Given the description of an element on the screen output the (x, y) to click on. 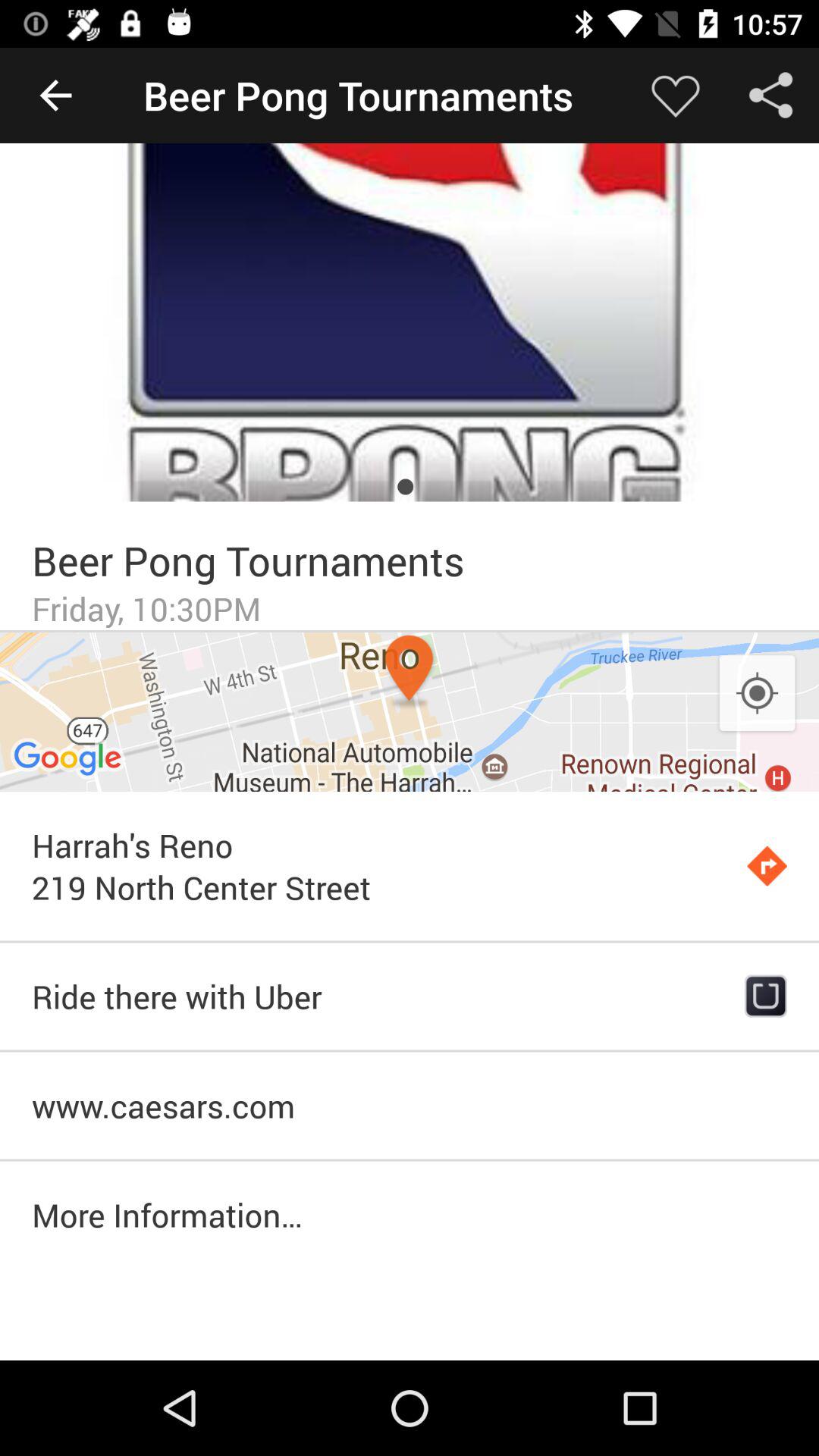
turn on item above beer pong tournaments (409, 322)
